Given the description of an element on the screen output the (x, y) to click on. 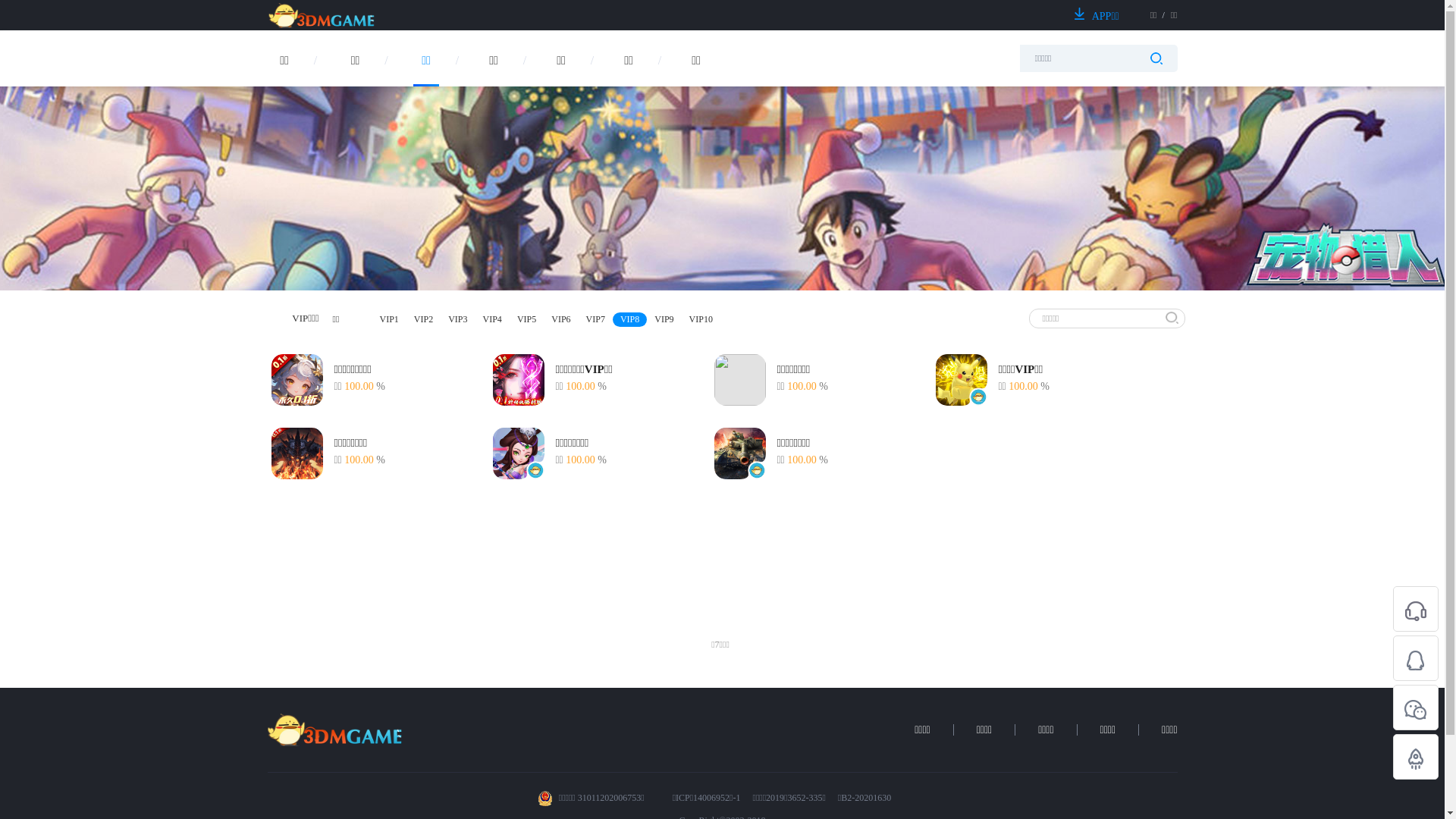
VIP6 Element type: text (560, 319)
VIP5 Element type: text (526, 319)
VIP8 Element type: text (629, 319)
VIP2 Element type: text (423, 319)
VIP3 Element type: text (457, 319)
VIP9 Element type: text (663, 319)
VIP7 Element type: text (595, 319)
VIP4 Element type: text (492, 319)
VIP1 Element type: text (388, 319)
VIP10 Element type: text (700, 319)
